Given the description of an element on the screen output the (x, y) to click on. 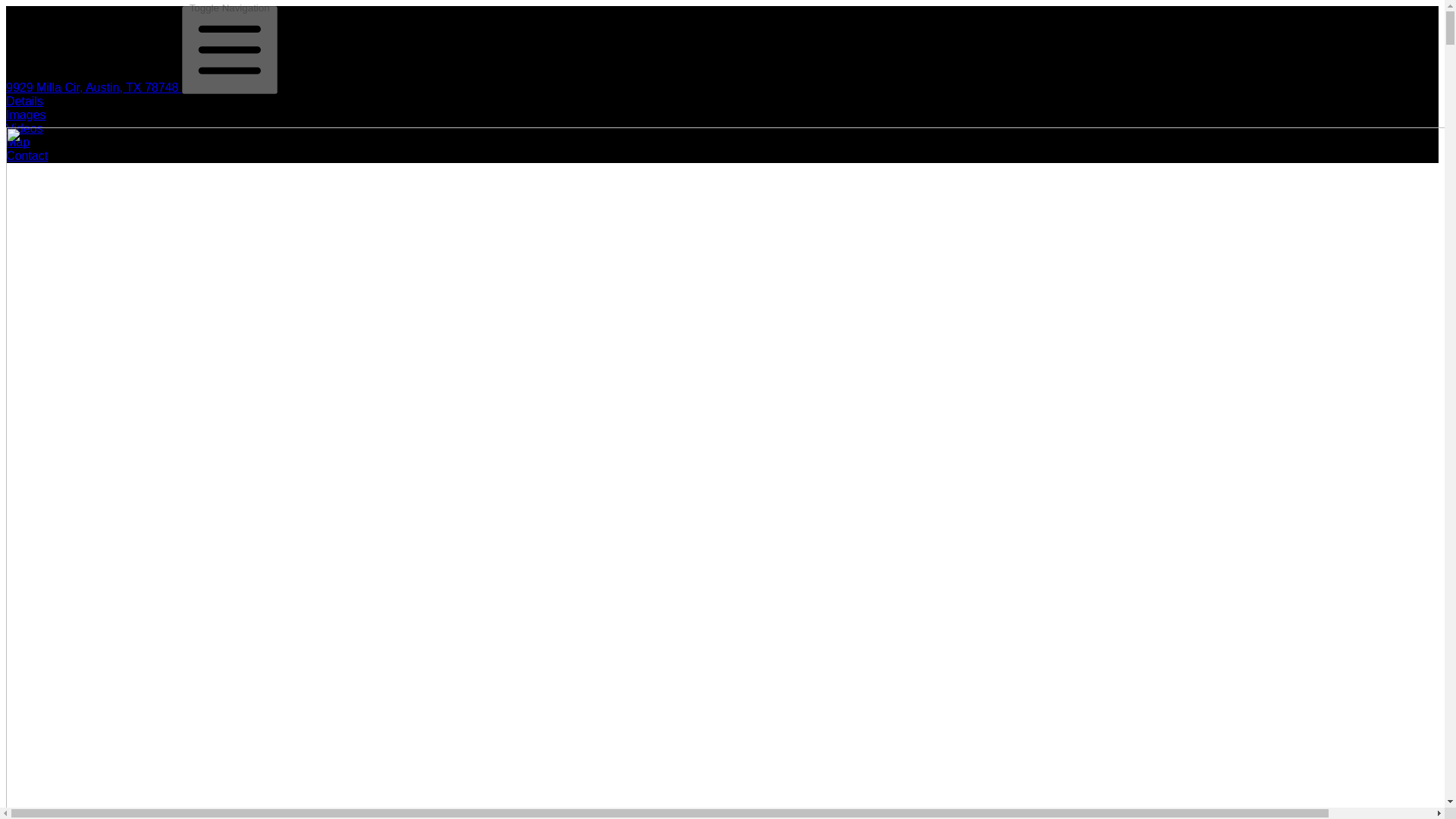
Map (17, 141)
Details (24, 101)
Contact (26, 155)
Toggle Navigation (230, 49)
9929 Milla Cir, Austin, TX 78748 (93, 87)
Videos (24, 128)
Back to the Top (93, 87)
Images (25, 114)
